Given the description of an element on the screen output the (x, y) to click on. 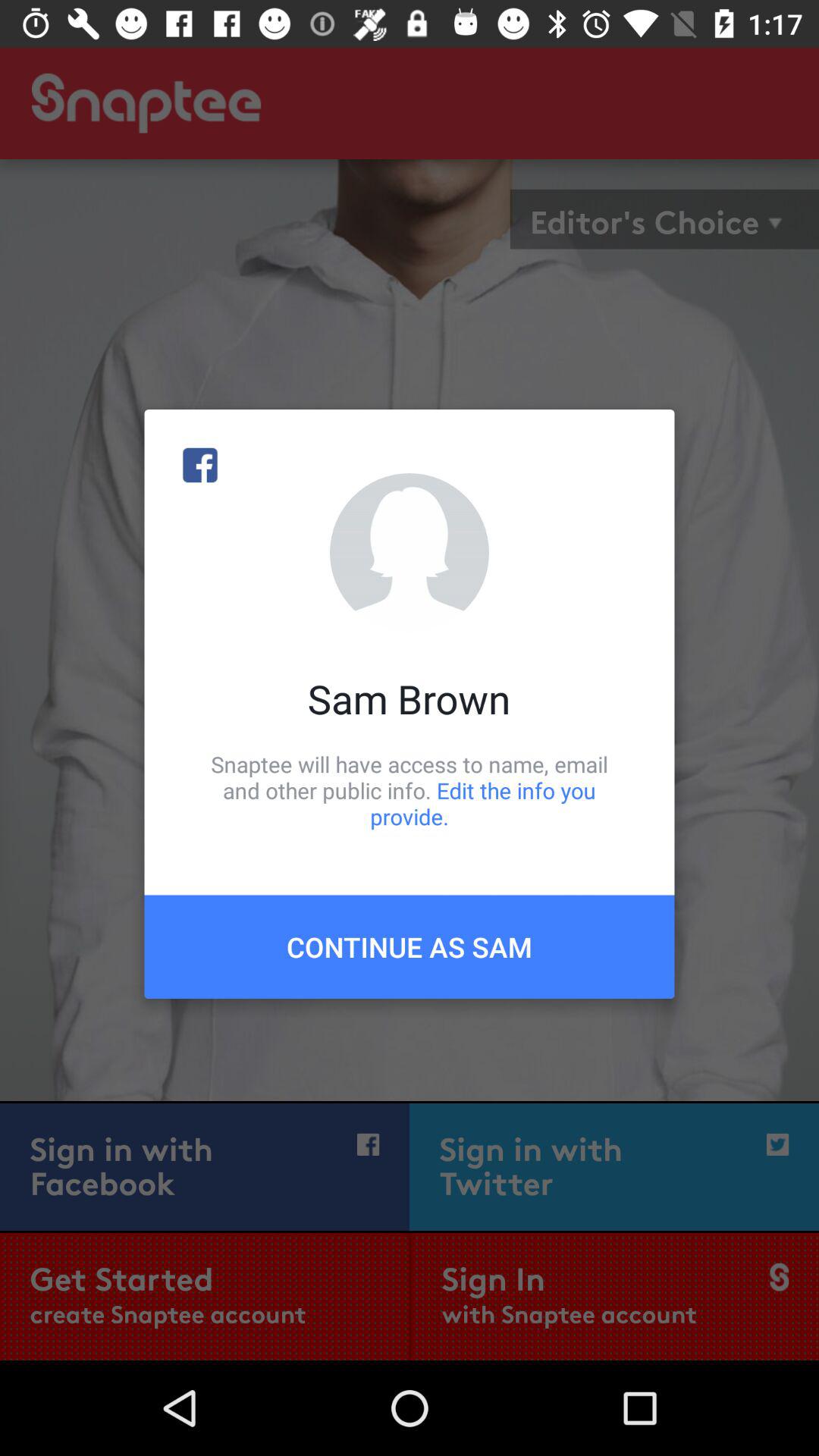
scroll until the snaptee will have item (409, 790)
